Given the description of an element on the screen output the (x, y) to click on. 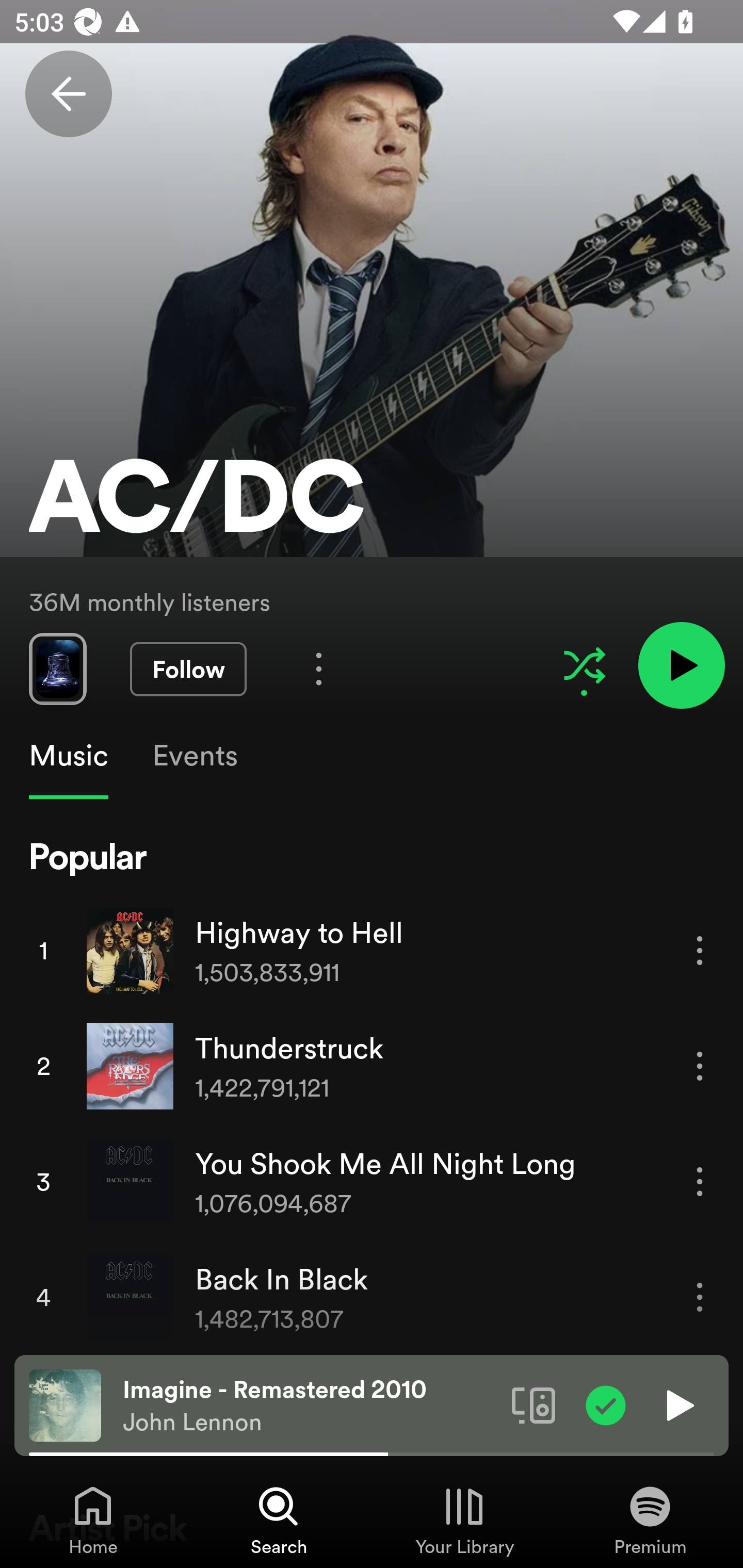
Back (68, 93)
Play artist (681, 664)
Disable shuffle for this artist (583, 665)
Swipe through previews of tracks from this artist. (57, 668)
More options for artist AC/DC (318, 668)
Follow (188, 669)
Events (194, 755)
More options for song Highway to Hell (699, 950)
More options for song Thunderstruck (699, 1066)
More options for song You Shook Me All Night Long (699, 1181)
More options for song Back In Black (699, 1297)
Imagine - Remastered 2010 John Lennon (309, 1405)
The cover art of the currently playing track (64, 1404)
Connect to a device. Opens the devices menu (533, 1404)
Item added (605, 1404)
Play (677, 1404)
Home, Tab 1 of 4 Home Home (92, 1519)
Search, Tab 2 of 4 Search Search (278, 1519)
Your Library, Tab 3 of 4 Your Library Your Library (464, 1519)
Premium, Tab 4 of 4 Premium Premium (650, 1519)
